Given the description of an element on the screen output the (x, y) to click on. 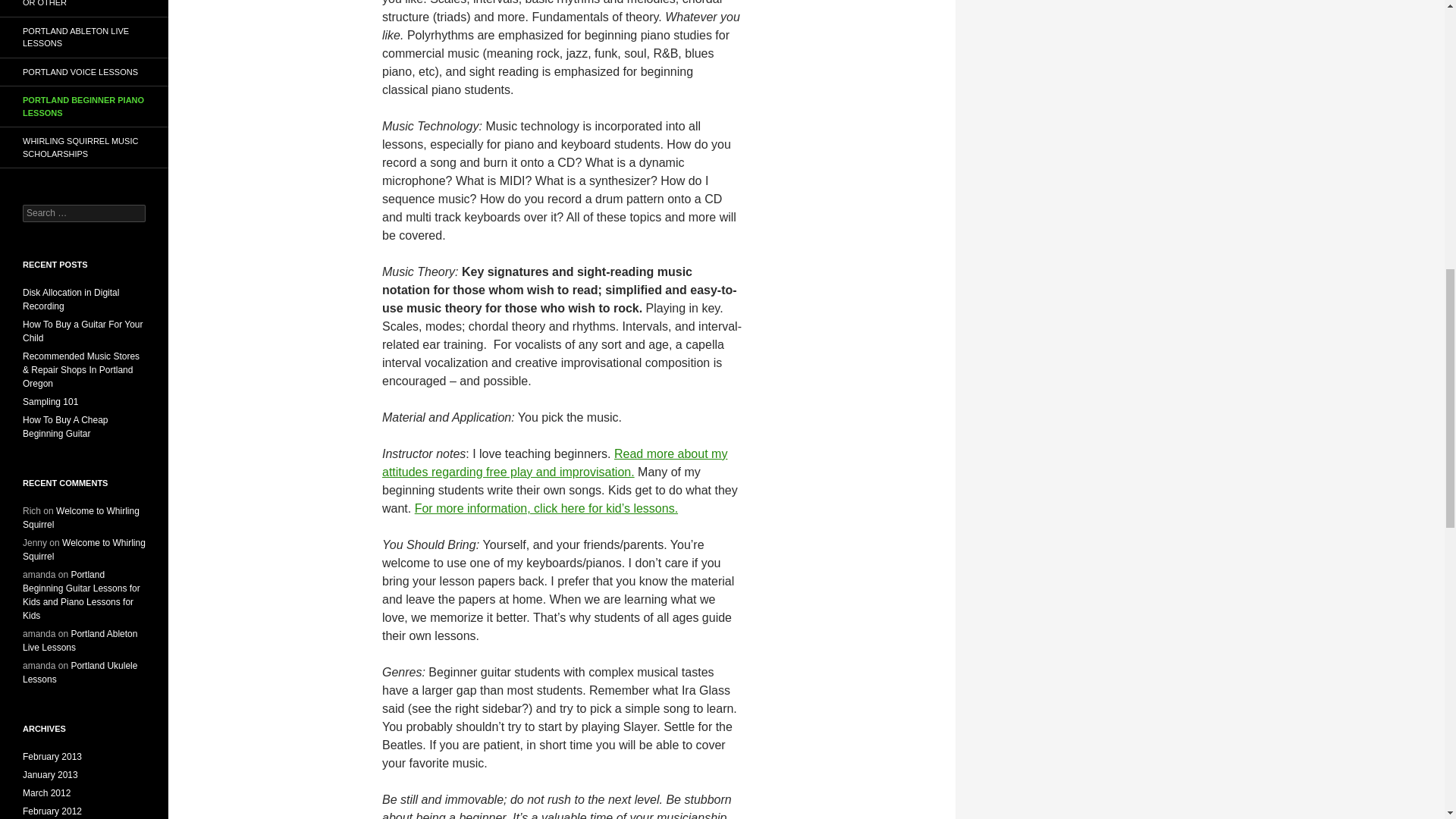
LESSONS FOR KIDS: BEGINNING GUITAR, PIANO OR OTHER (84, 8)
Sampling 101 (50, 401)
PORTLAND VOICE LESSONS (84, 71)
about (553, 462)
WHIRLING SQUIRREL MUSIC SCHOLARSHIPS (84, 147)
Disk Allocation in Digital Recording (71, 299)
PORTLAND BEGINNER PIANO LESSONS (84, 106)
PORTLAND ABLETON LIVE LESSONS (84, 36)
How To Buy a Guitar For Your Child (82, 331)
